Given the description of an element on the screen output the (x, y) to click on. 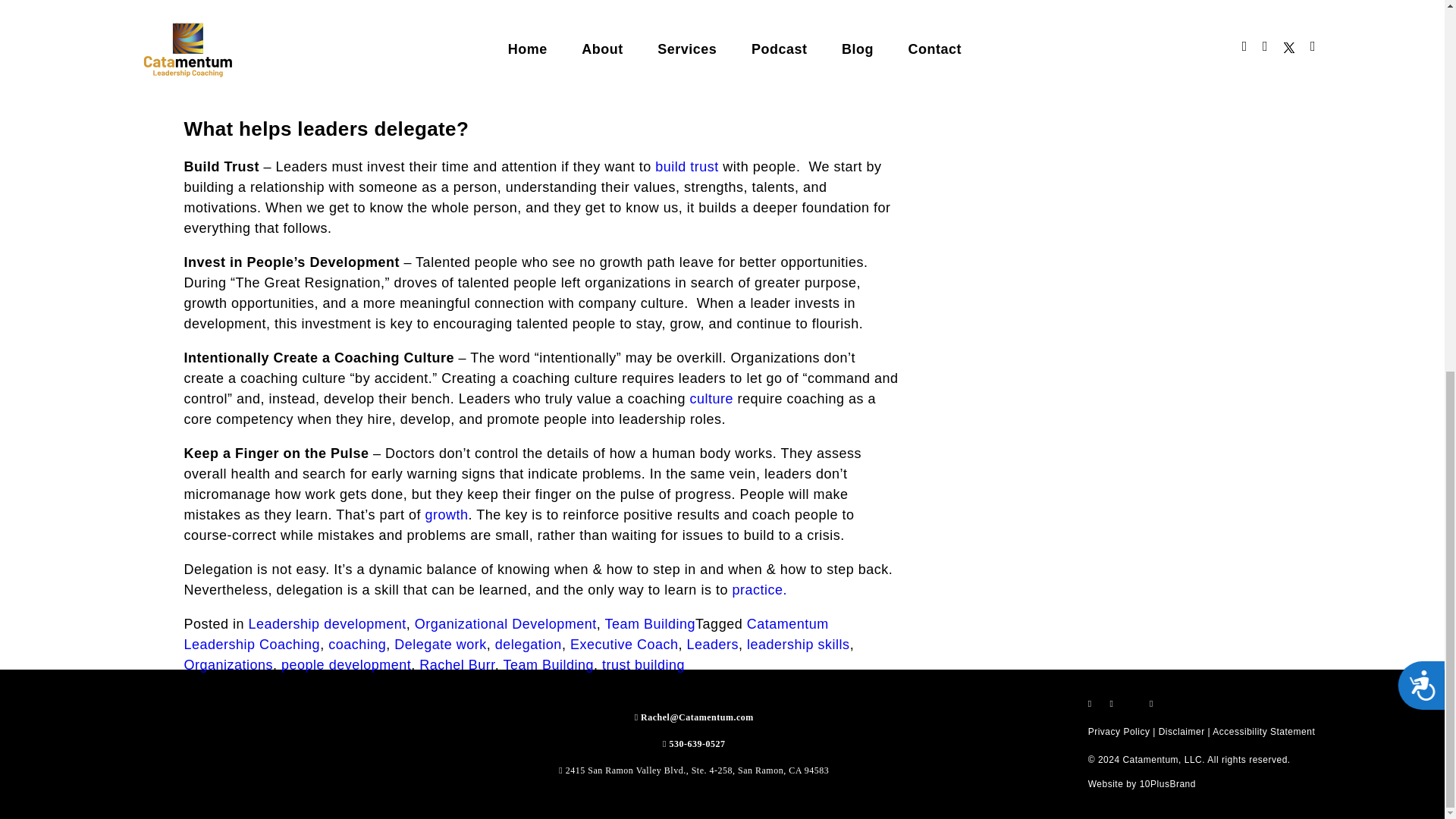
culture (712, 398)
Catamentum Leadership Coaching (505, 633)
growth (446, 514)
Team Building (650, 623)
build trust (687, 166)
Organizational Development (505, 623)
Leadership development (327, 623)
practice. (759, 589)
